Given the description of an element on the screen output the (x, y) to click on. 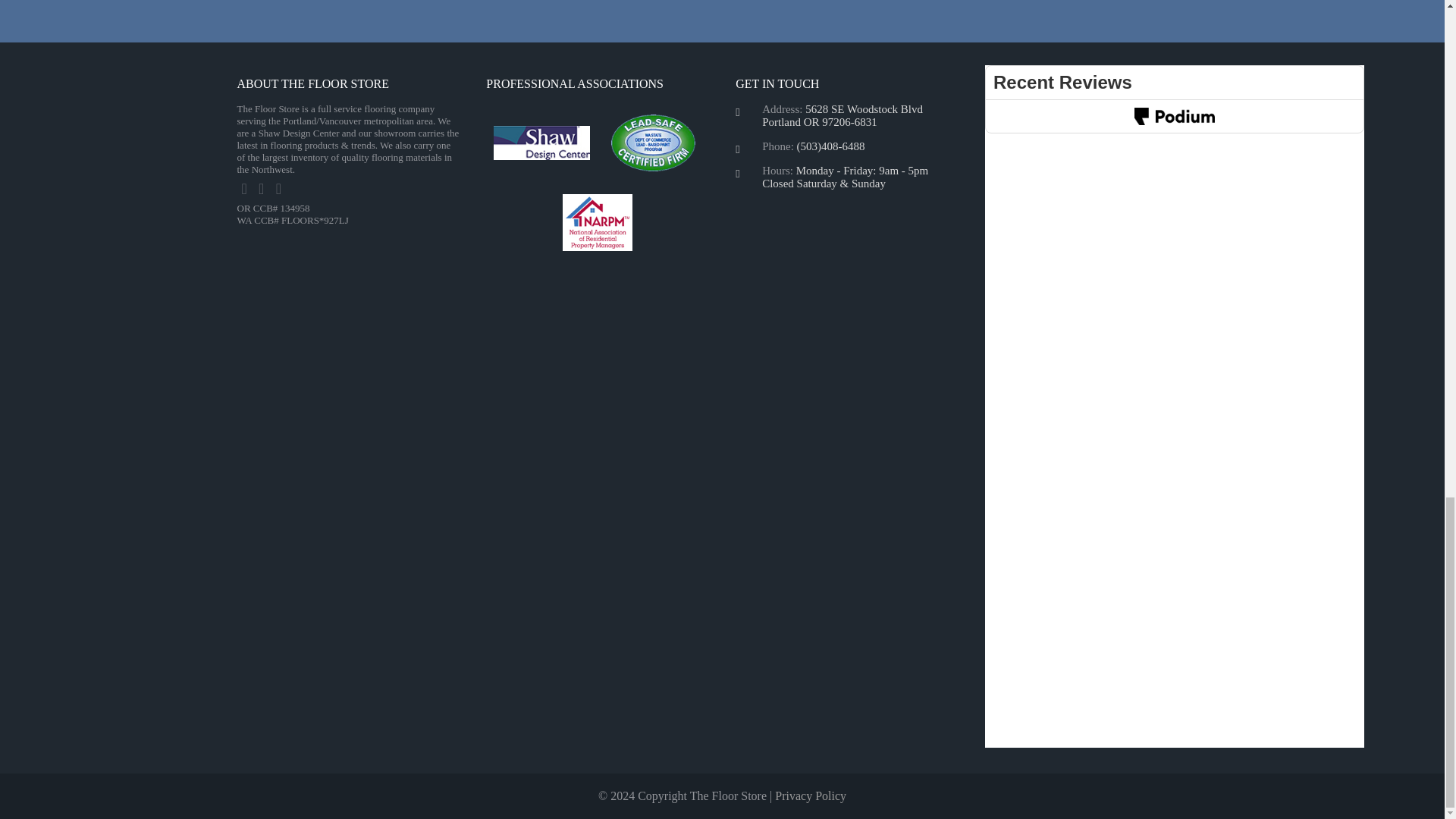
Privacy Policy (809, 795)
